Given the description of an element on the screen output the (x, y) to click on. 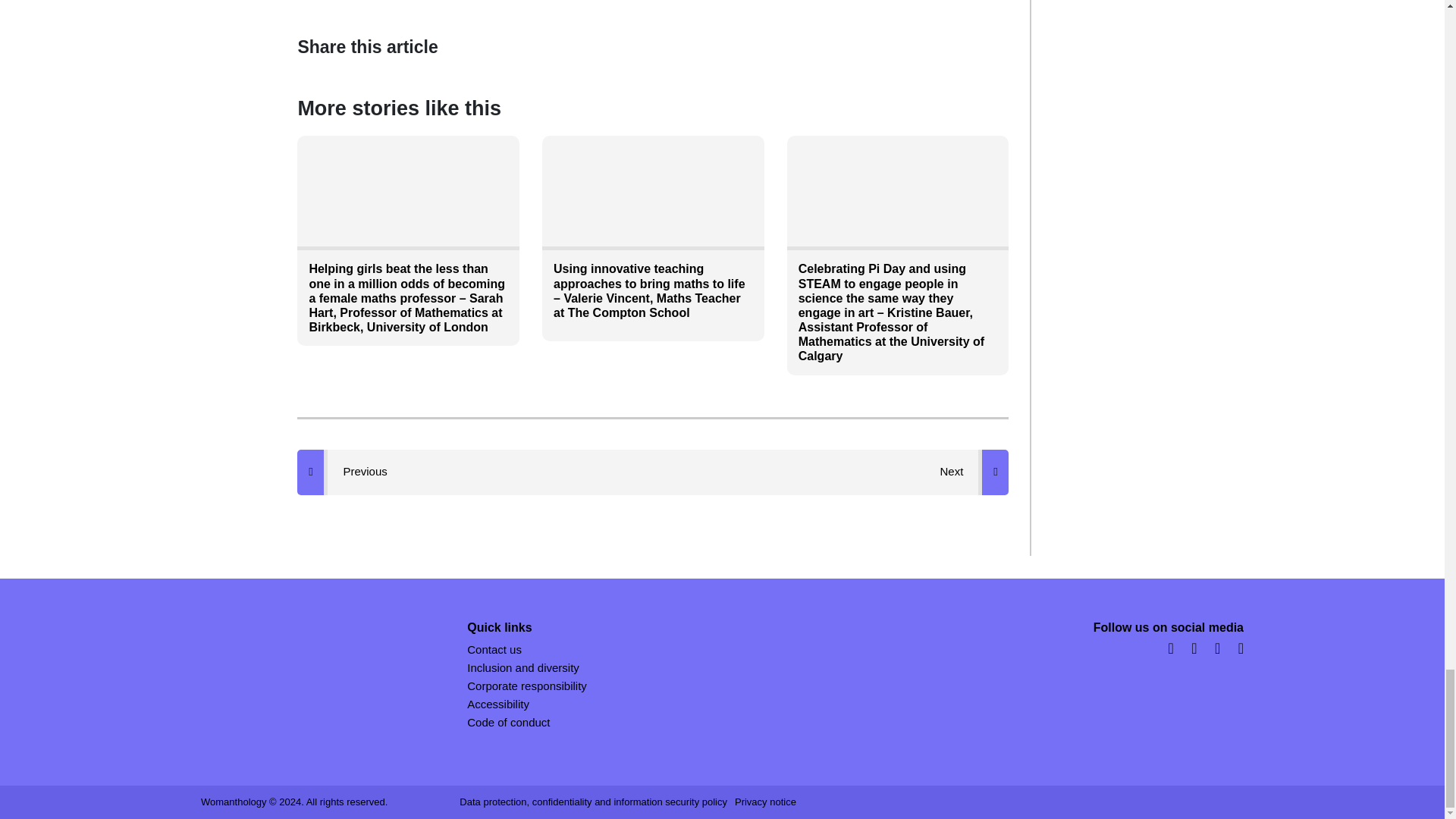
Previous (353, 472)
Next (974, 472)
